Given the description of an element on the screen output the (x, y) to click on. 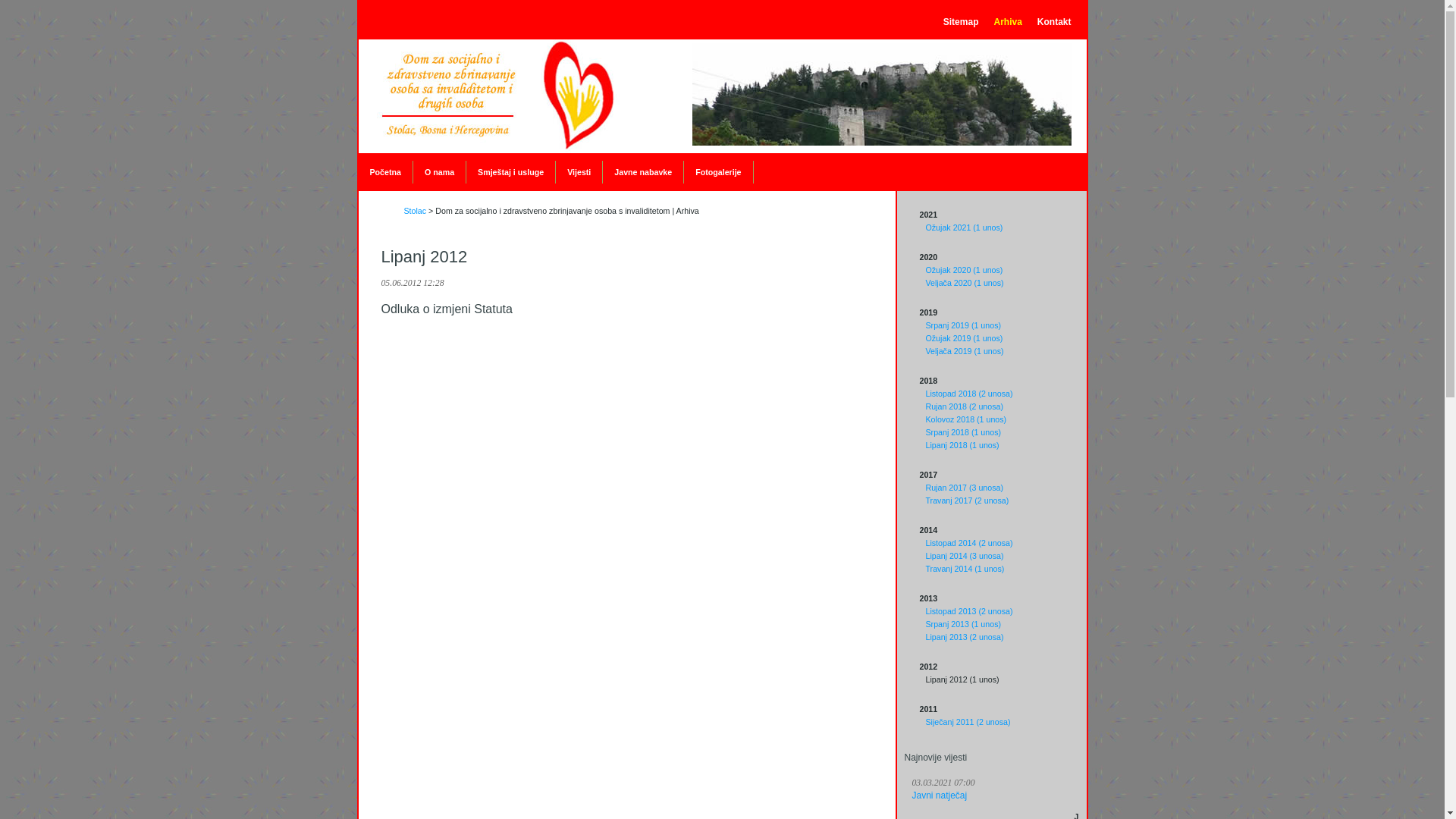
Listopad 2013 (2 unosa) Element type: text (968, 610)
Listopad 2014 (2 unosa) Element type: text (968, 542)
Stolac Element type: text (414, 210)
Travanj 2014 (1 unos) Element type: text (964, 568)
Rujan 2017 (3 unosa) Element type: text (964, 487)
Lipanj 2013 (2 unosa) Element type: text (964, 636)
Vijesti Element type: text (578, 171)
Listopad 2018 (2 unosa) Element type: text (968, 393)
Sitemap Element type: text (961, 21)
O nama Element type: text (439, 171)
Kontakt Element type: text (1054, 21)
Rujan 2018 (2 unosa) Element type: text (964, 406)
Srpanj 2018 (1 unos) Element type: text (963, 431)
Kolovoz 2018 (1 unos) Element type: text (965, 418)
Lipanj 2018 (1 unos) Element type: text (961, 444)
Lipanj 2014 (3 unosa) Element type: text (964, 555)
Fotogalerije Element type: text (718, 171)
Srpanj 2019 (1 unos) Element type: text (963, 324)
Travanj 2017 (2 unosa) Element type: text (966, 500)
Srpanj 2013 (1 unos) Element type: text (963, 623)
Javne nabavke Element type: text (642, 171)
